Given the description of an element on the screen output the (x, y) to click on. 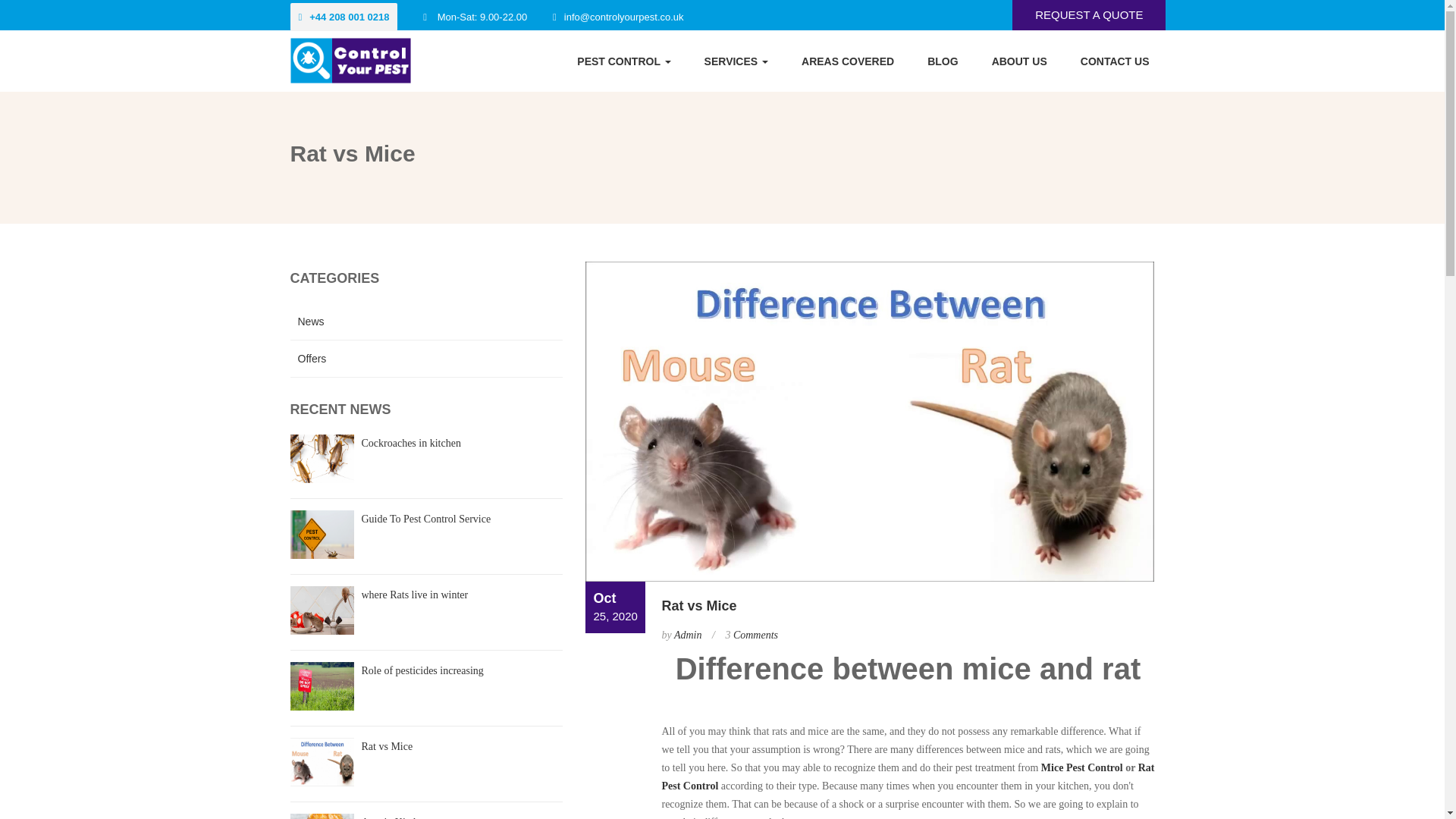
PEST CONTROL (623, 60)
REQUEST A QUOTE (1088, 14)
Cockroaches in kitchen (410, 442)
Guide To Pest Control Service (425, 518)
Rat vs Mice (386, 746)
Role of pesticides increasing (422, 670)
ABOUT US (1019, 60)
Offers (425, 358)
CONTACT US (1115, 60)
Control Your Pest (349, 60)
